Given the description of an element on the screen output the (x, y) to click on. 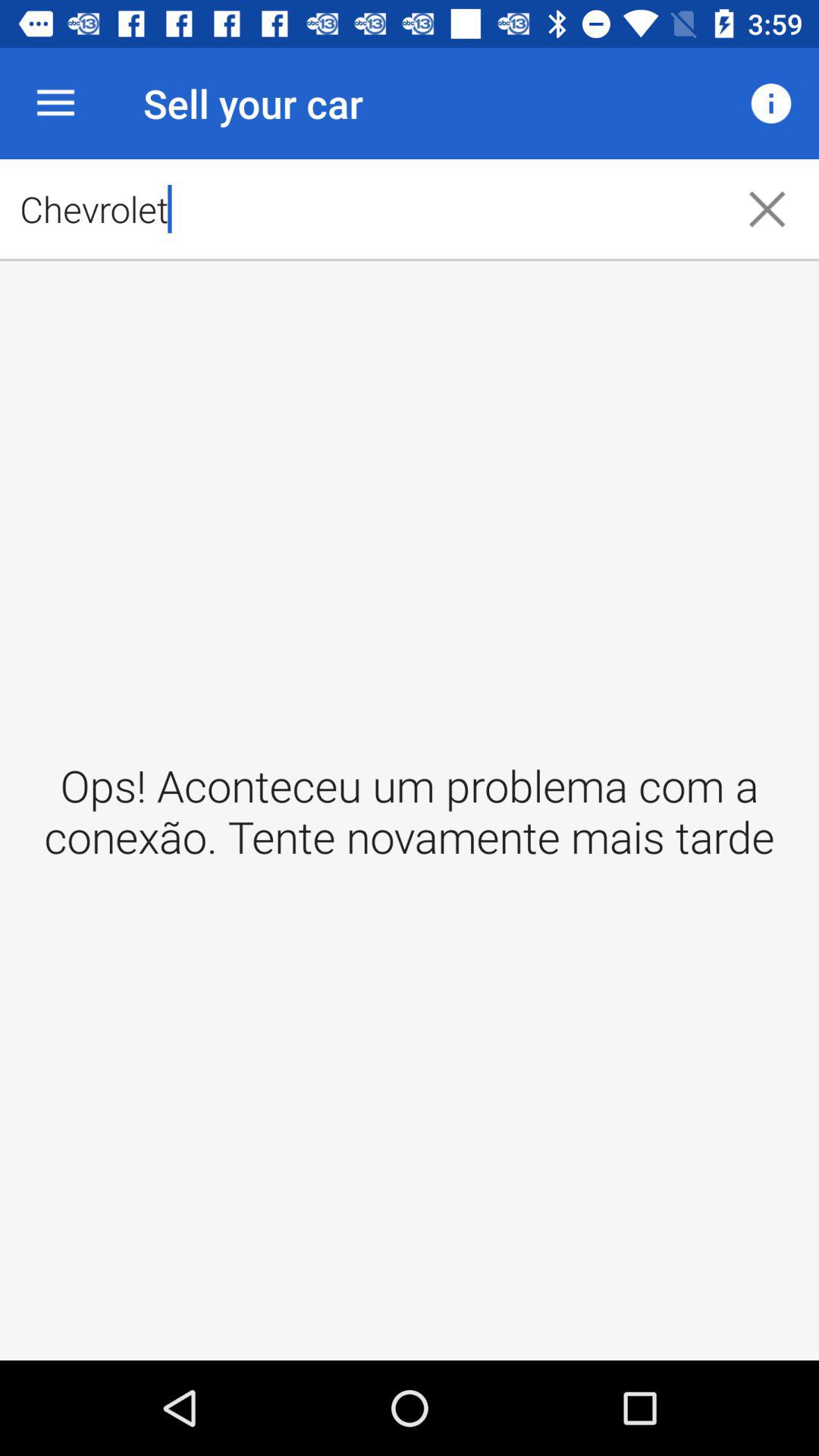
turn off the icon to the right of the chevrolet item (767, 208)
